Given the description of an element on the screen output the (x, y) to click on. 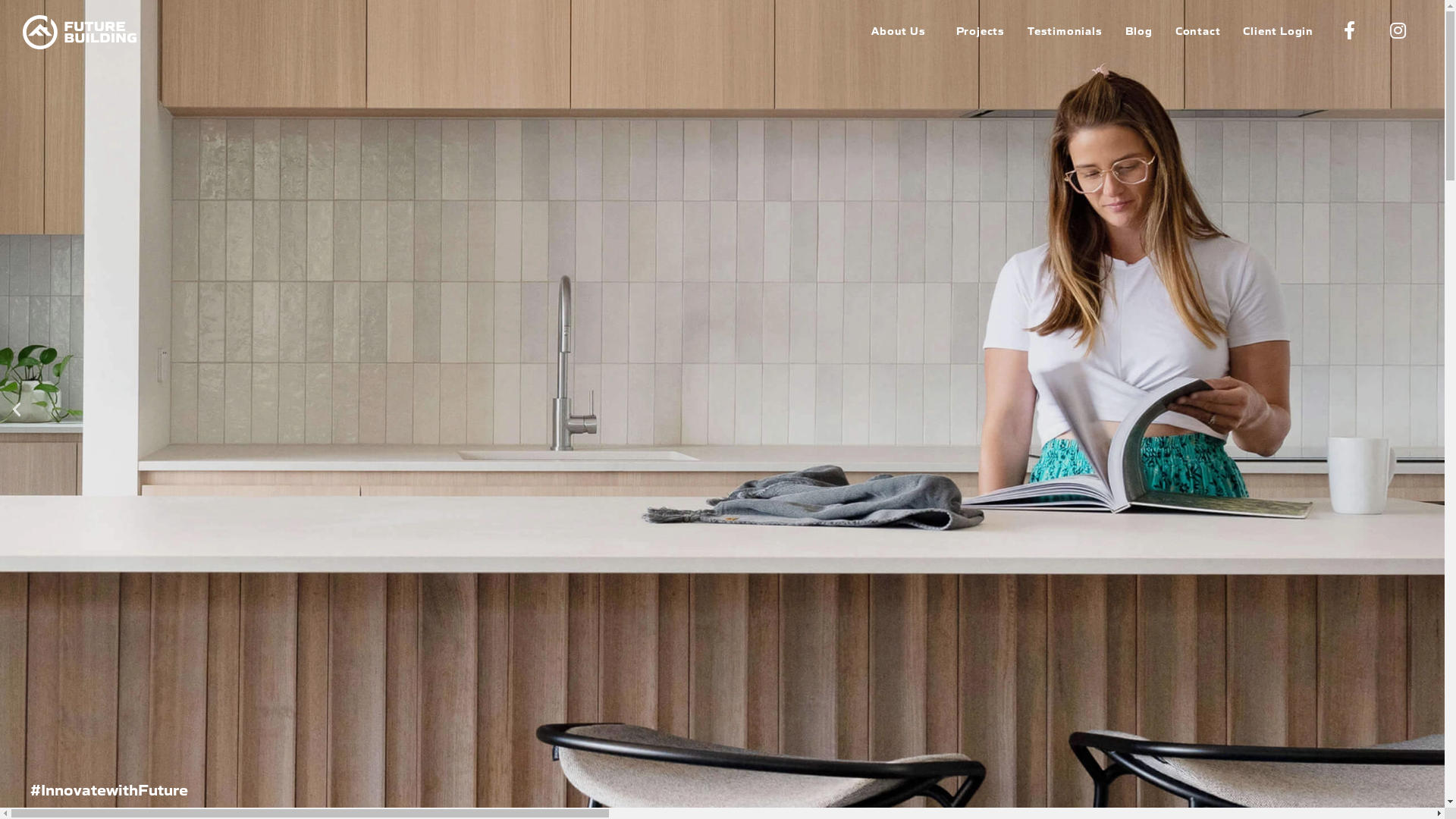
Client Login Element type: text (1277, 30)
About Us Element type: text (901, 30)
Blog Element type: text (1138, 30)
Projects Element type: text (980, 30)
Testimonials Element type: text (1064, 30)
Contact Element type: text (1198, 30)
Future_building_Logo_white Element type: hover (79, 32)
